Given the description of an element on the screen output the (x, y) to click on. 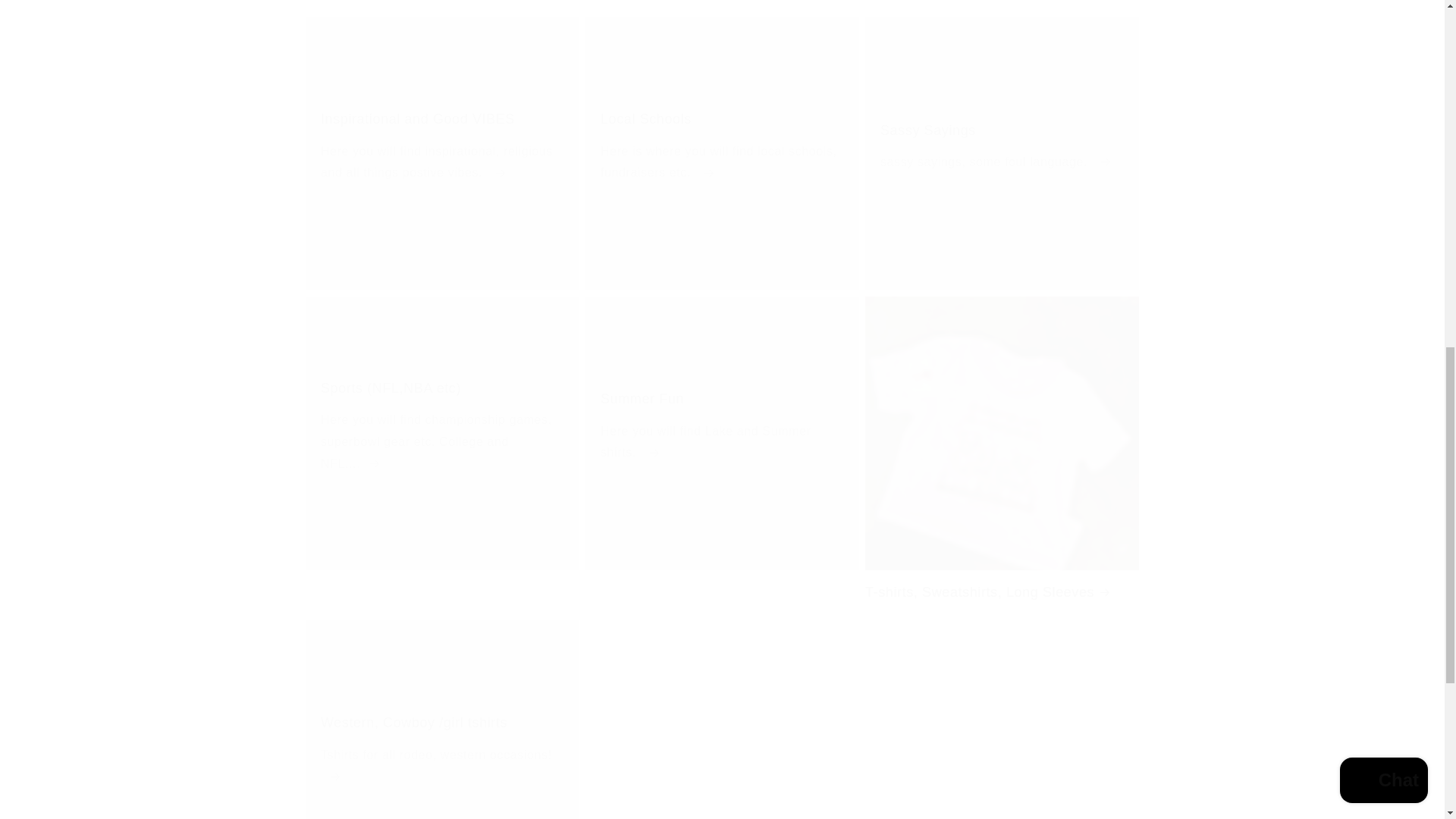
Sassy Sayings (1002, 130)
Summer Fun (721, 398)
Inspirational and Good VIBES (722, 5)
Home page (441, 118)
T-shirts, Sweatshirts, Long Sleeves (1001, 5)
Local Schools (1001, 153)
